Given the description of an element on the screen output the (x, y) to click on. 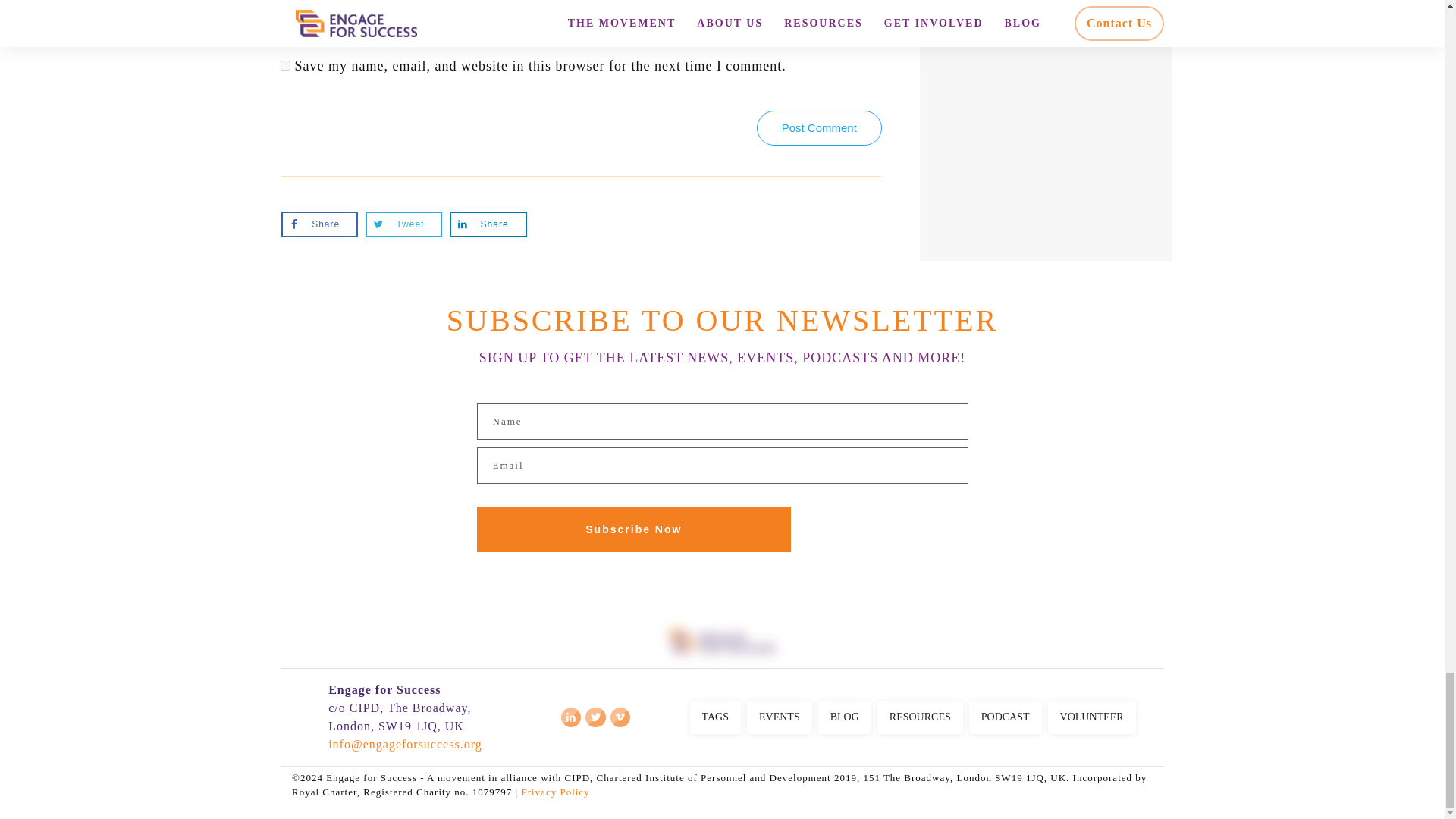
Tweet (403, 223)
yes (285, 65)
Share (487, 223)
Share (319, 223)
Post Comment (819, 127)
